Given the description of an element on the screen output the (x, y) to click on. 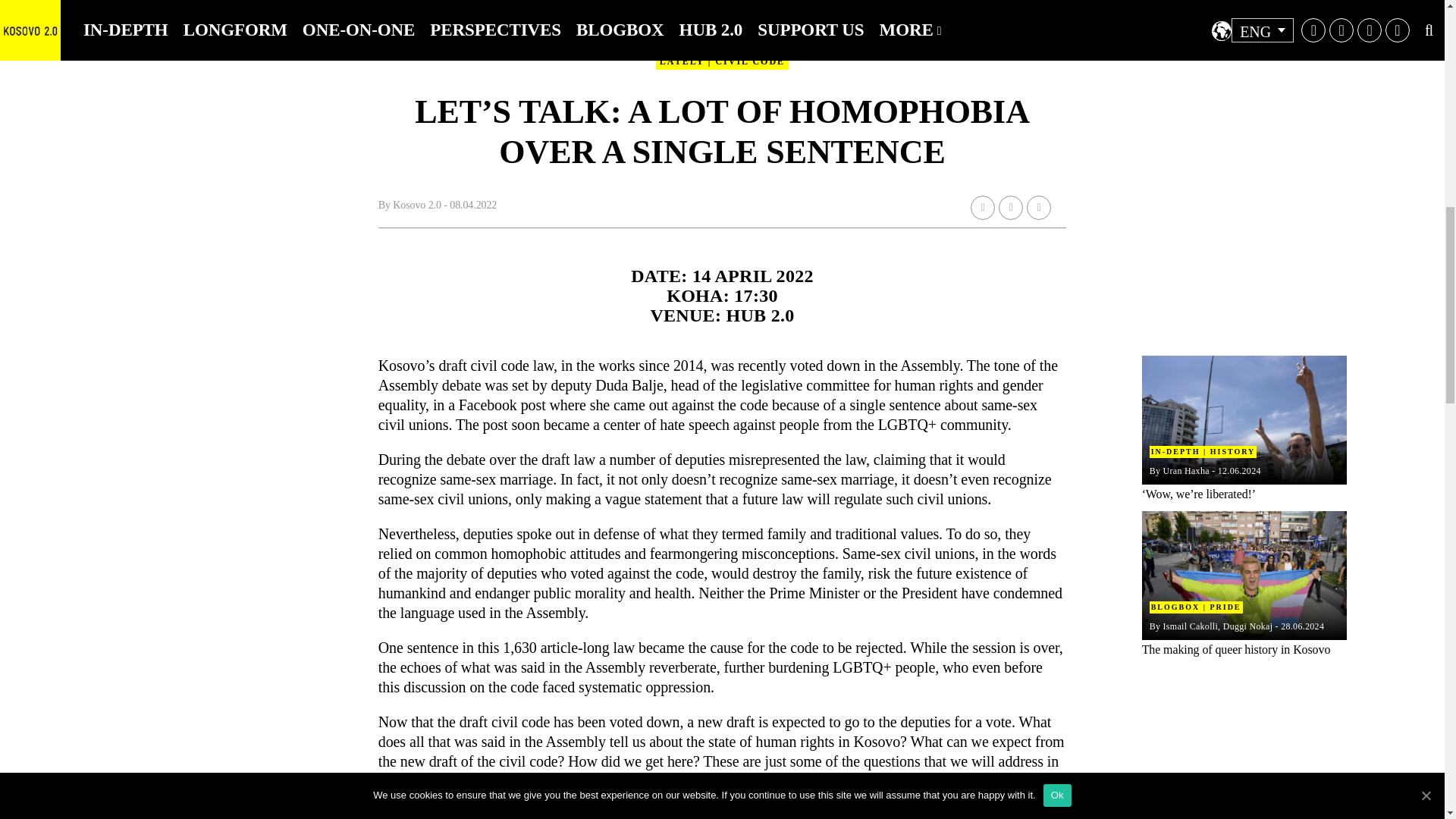
Posts by Ismail Cakolli (1190, 625)
Posts by Kosovo 2.0 (417, 204)
Posts by Uran Haxha (1186, 470)
Posts by Duggi Nokaj (1247, 625)
